Given the description of an element on the screen output the (x, y) to click on. 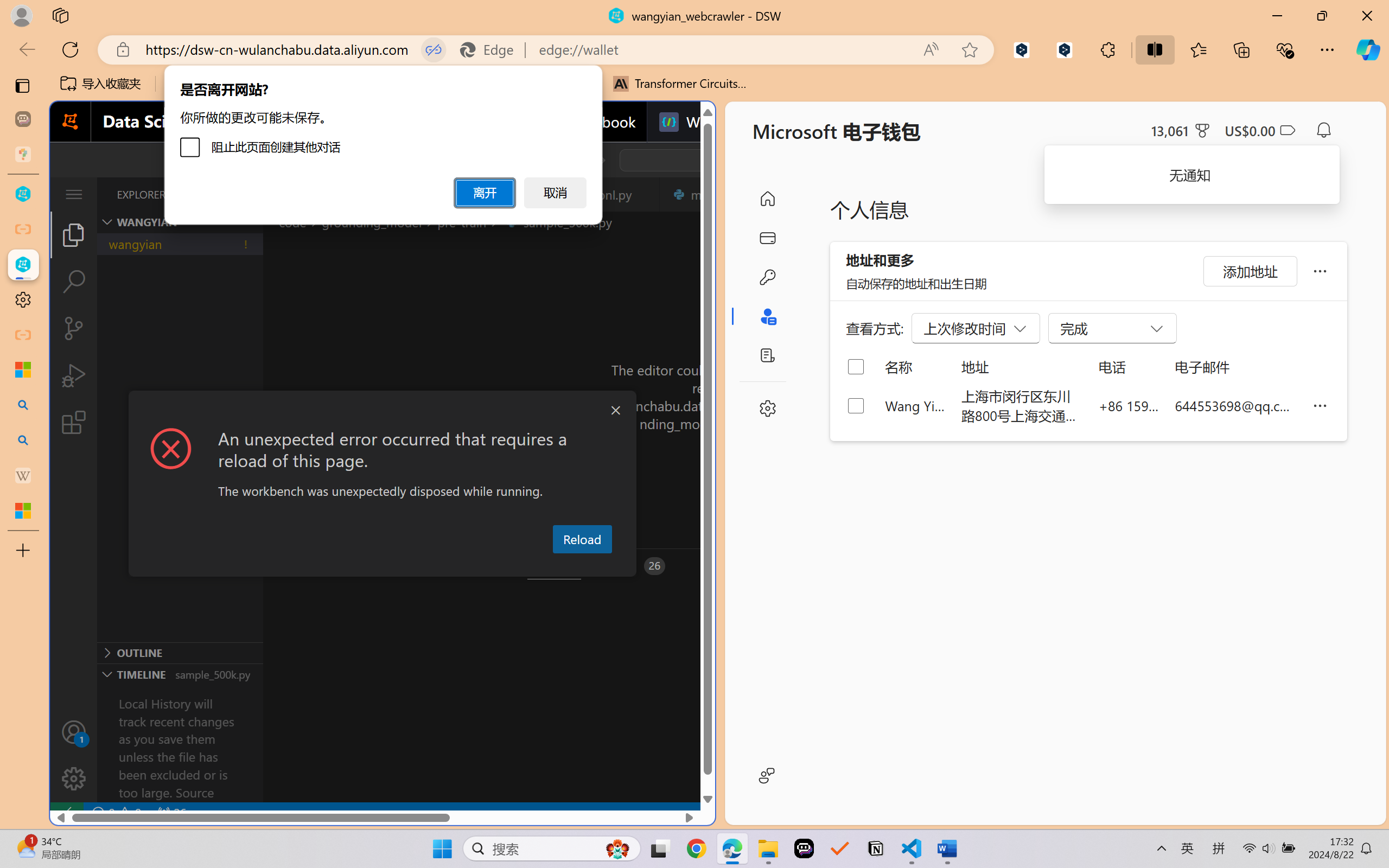
+86 159 0032 4640 (1128, 405)
Close Dialog (615, 410)
Run and Debug (Ctrl+Shift+D) (73, 375)
